Given the description of an element on the screen output the (x, y) to click on. 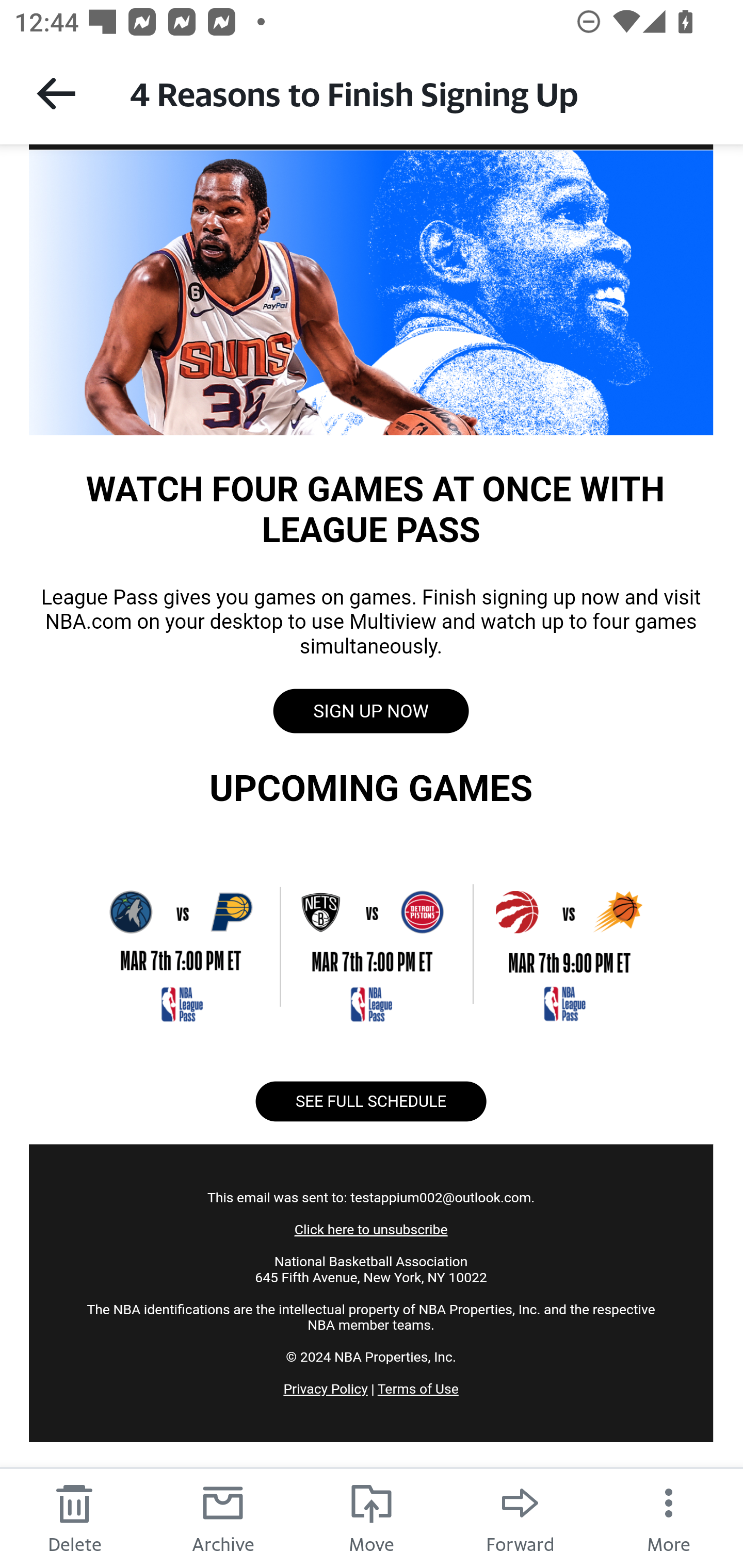
Back (55, 92)
WATCH FOUR GAMES AT ONCE WITH LEAGUE PASS (370, 291)
SIGN UP NOW (370, 710)
Game Schedule (370, 945)
SEE FULL SCHEDULE (370, 1100)
testappium002@outlook.com (440, 1196)
Click here to unsubscribe (370, 1229)
Privacy Policy (325, 1389)
Terms of Use (417, 1389)
Delete (74, 1517)
Archive (222, 1517)
Move (371, 1517)
Forward (519, 1517)
More (668, 1517)
